Given the description of an element on the screen output the (x, y) to click on. 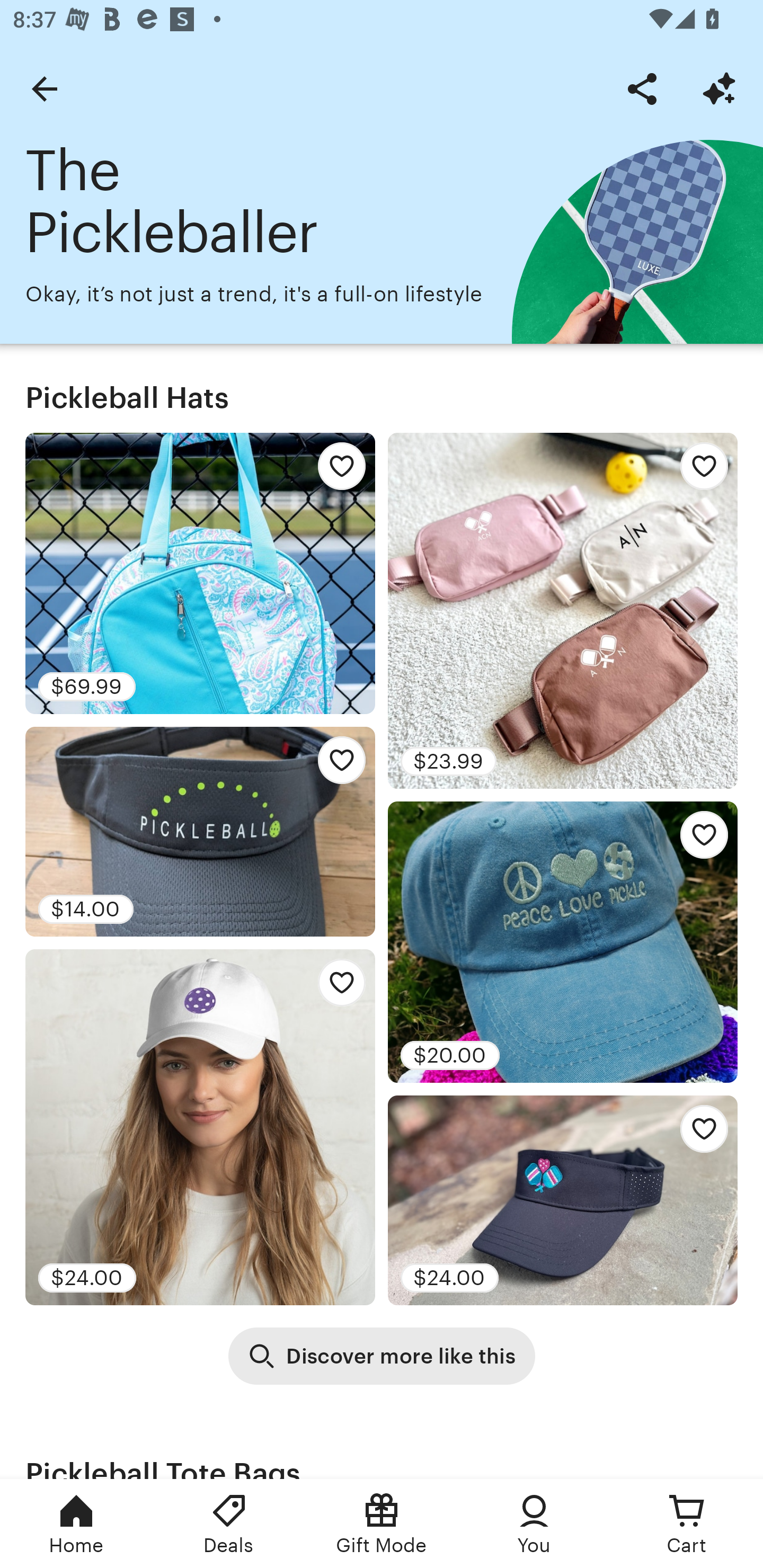
Back (44, 88)
$69.99 (200, 572)
$23.99 (562, 610)
$14.00 (200, 831)
$20.00 (562, 942)
$24.00 (200, 1126)
$24.00 (562, 1200)
Discover more like this (381, 1355)
Deals (228, 1523)
Gift Mode (381, 1523)
You (533, 1523)
Cart (686, 1523)
